Given the description of an element on the screen output the (x, y) to click on. 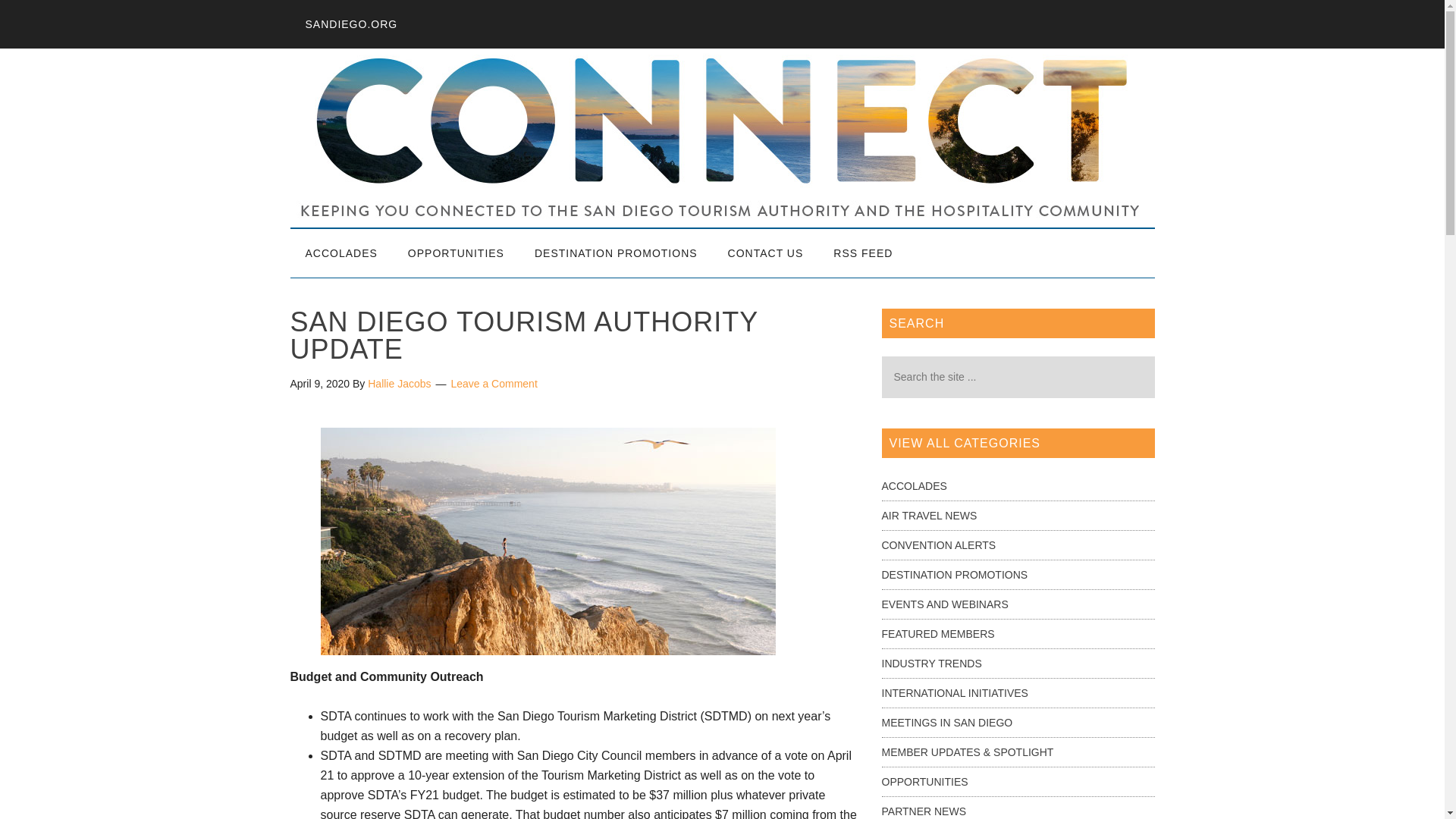
AIR TRAVEL NEWS (928, 515)
EVENTS AND WEBINARS (943, 604)
SANDIEGO.ORG (350, 24)
PARTNER NEWS (923, 811)
ACCOLADES (340, 253)
Hallie Jacobs (399, 383)
OPPORTUNITIES (924, 781)
OPPORTUNITIES (456, 253)
DESTINATION PROMOTIONS (616, 253)
